Given the description of an element on the screen output the (x, y) to click on. 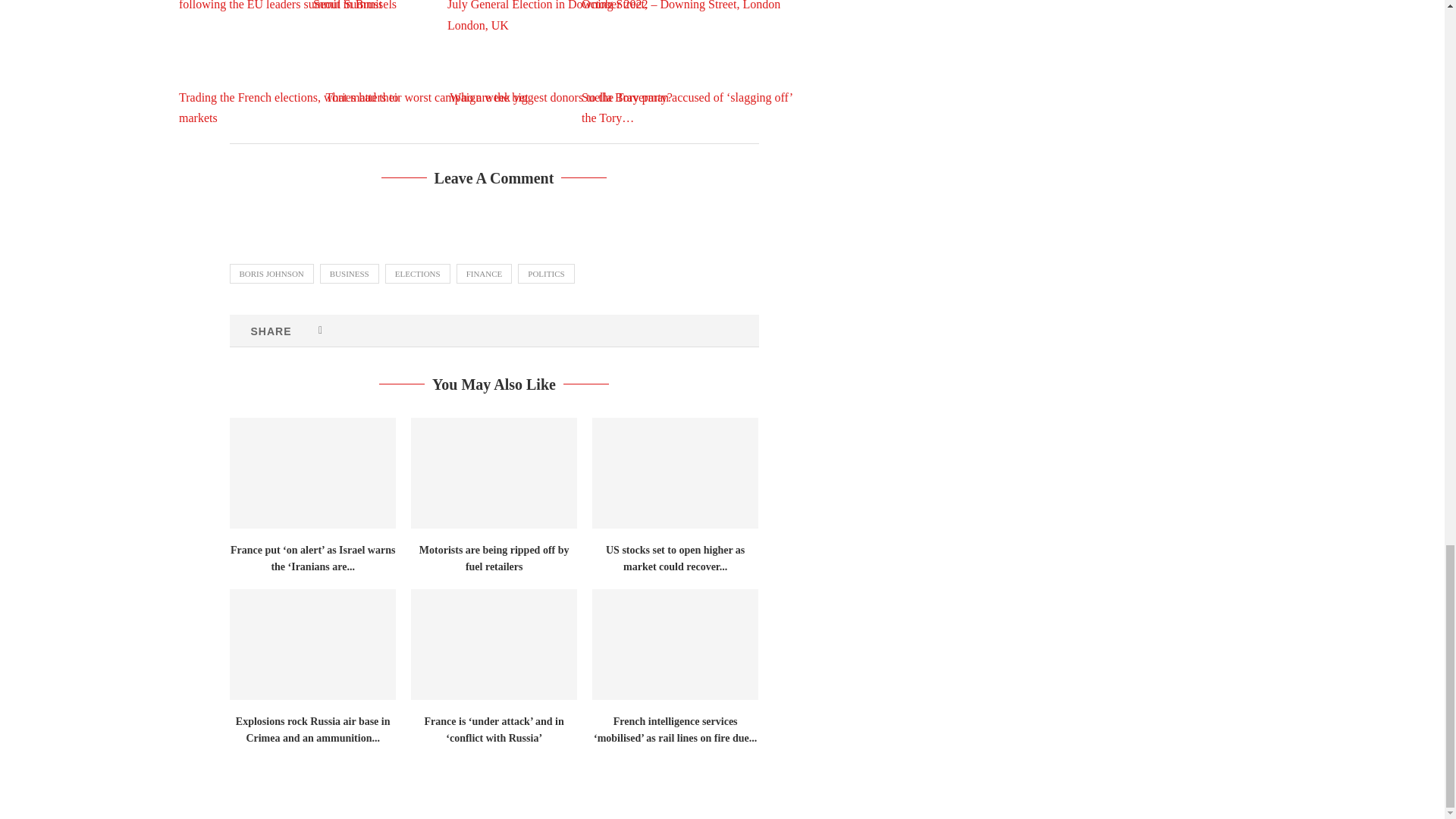
Motorists are being ripped off by fuel retailers (493, 472)
Tories had their worst campaign week yet (426, 62)
Who are the biggest donors to the Tory party? (560, 62)
Trading the French elections, what matters to markets (292, 62)
